Given the description of an element on the screen output the (x, y) to click on. 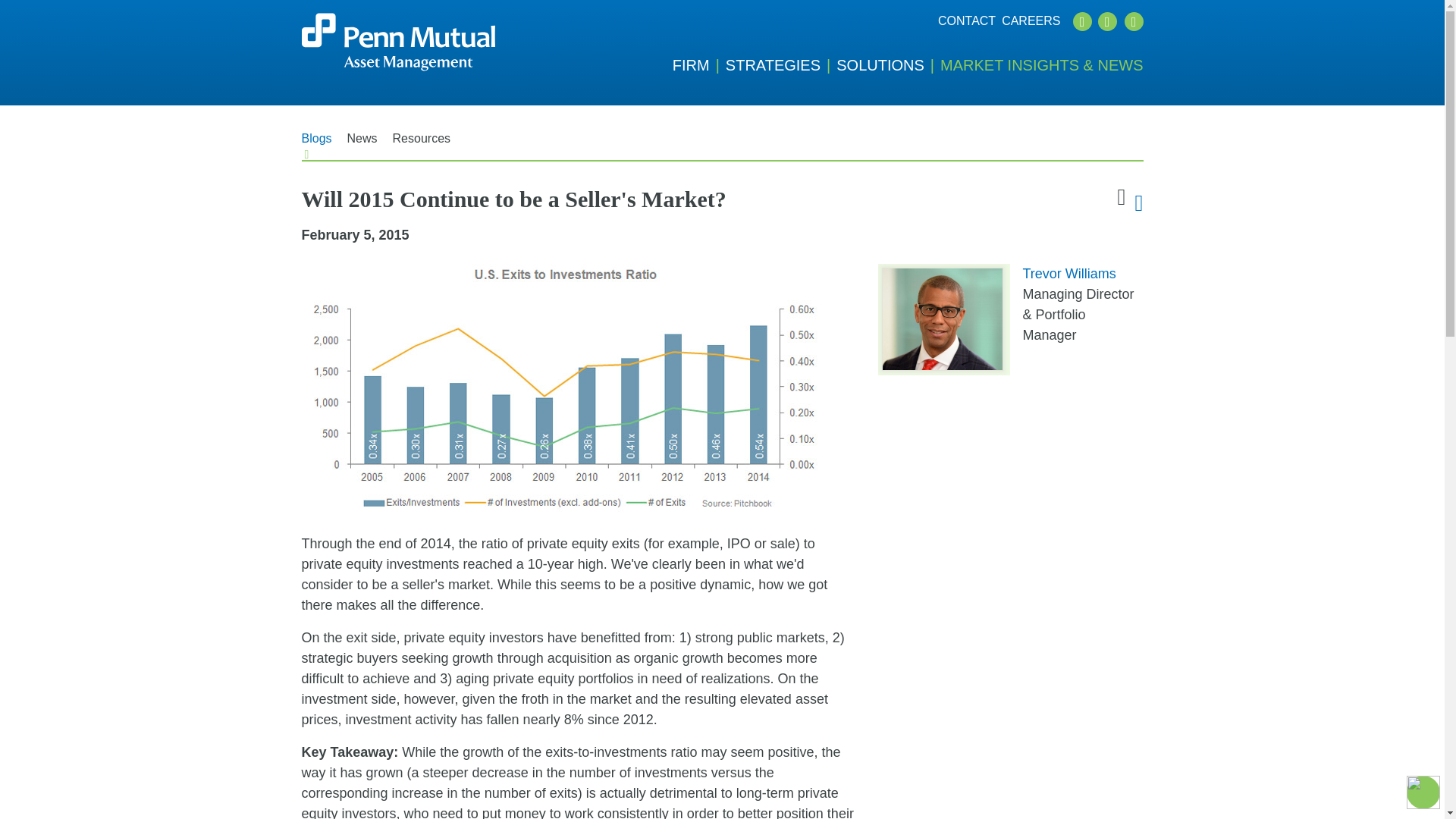
Accessibility Menu (1422, 792)
SOLUTIONS (887, 65)
Penn Mutual Asset Management Logo (398, 42)
STRATEGIES (780, 65)
Will 2015 Continue to be a Seller's Market? Photo (566, 389)
CONTACT (966, 21)
FIRM (698, 65)
News (362, 144)
CAREERS (1030, 21)
Resources (421, 144)
LinkedIn (1106, 21)
Twitter (1080, 21)
Blogs (316, 144)
